Given the description of an element on the screen output the (x, y) to click on. 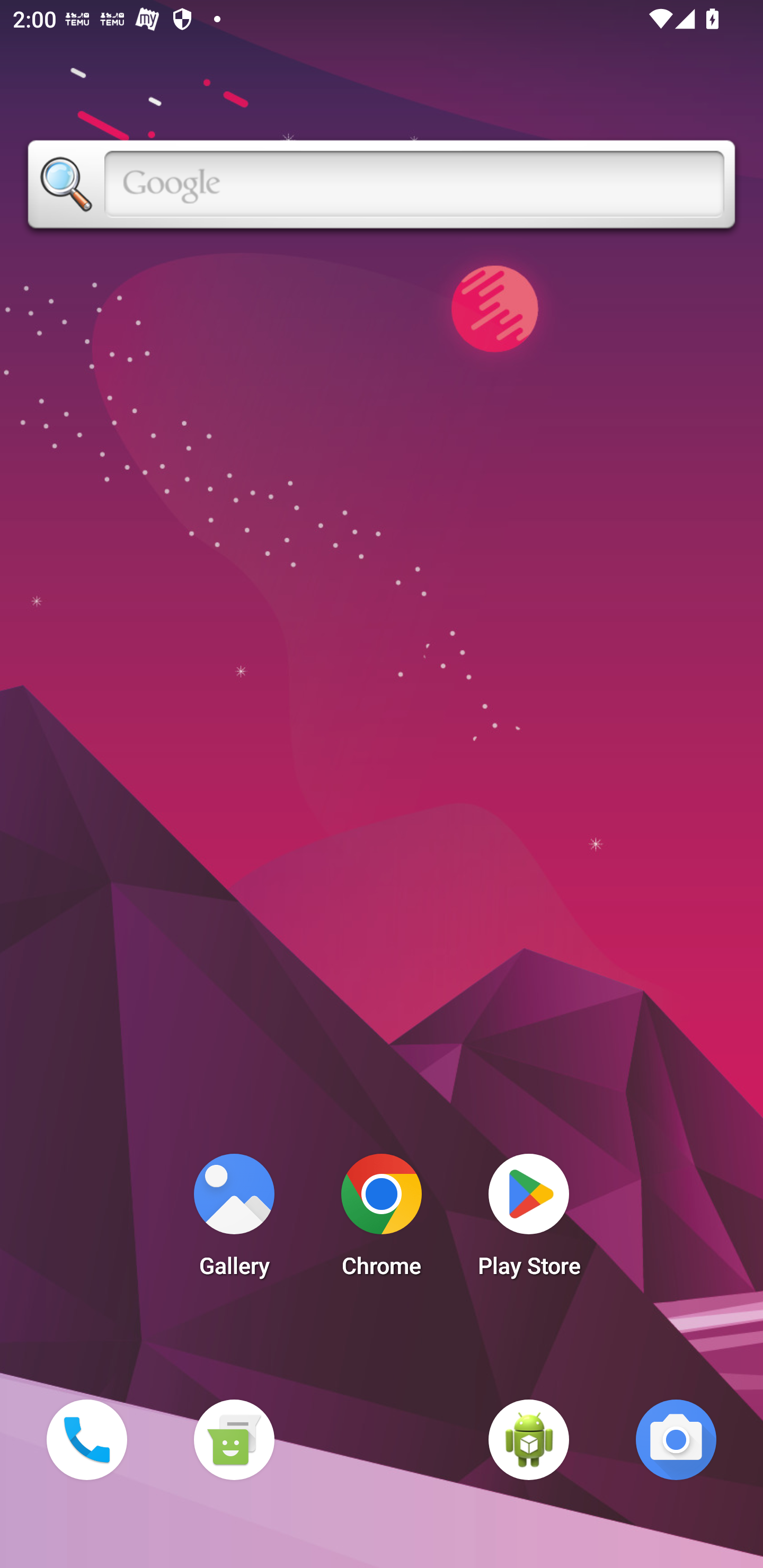
Gallery (233, 1220)
Chrome (381, 1220)
Play Store (528, 1220)
Phone (86, 1439)
Messaging (233, 1439)
WebView Browser Tester (528, 1439)
Camera (676, 1439)
